Given the description of an element on the screen output the (x, y) to click on. 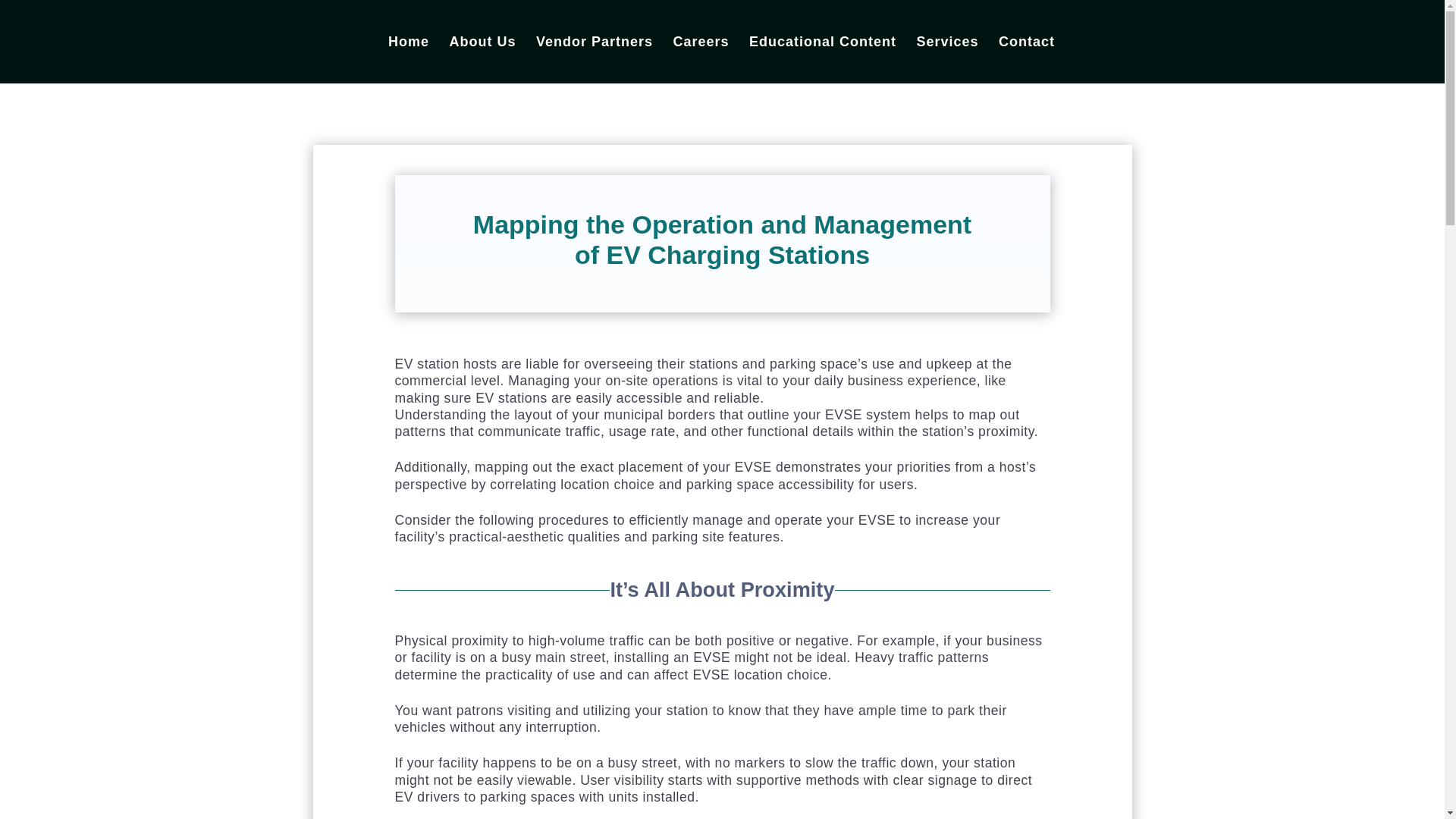
Vendor Partners (593, 59)
Services (946, 59)
Careers (700, 59)
About Us (481, 59)
Educational Content (822, 59)
Contact (1026, 59)
